Given the description of an element on the screen output the (x, y) to click on. 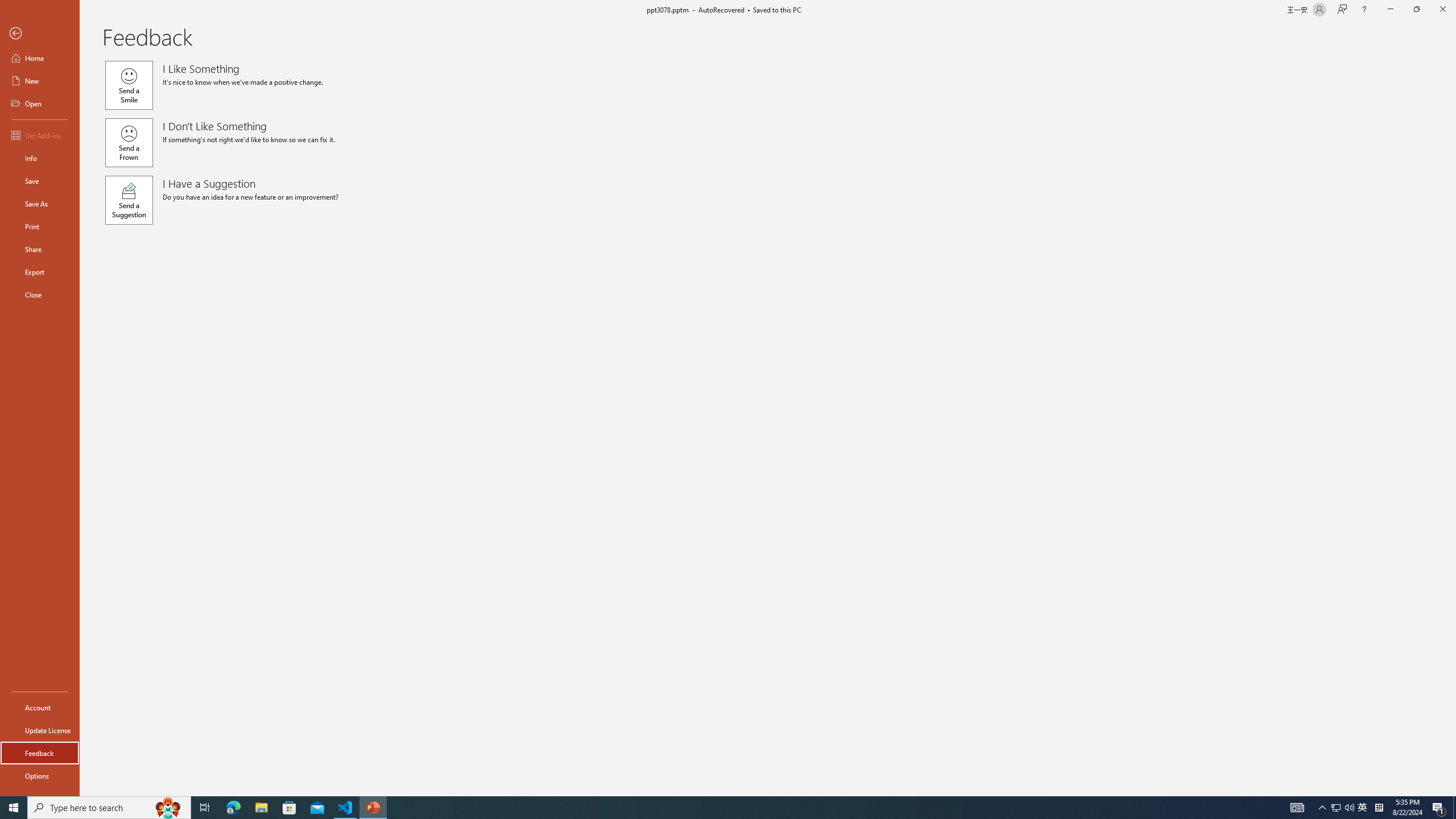
Options (40, 775)
Export (40, 271)
Feedback (40, 753)
Save As (40, 203)
Info (40, 157)
Print (40, 225)
